Given the description of an element on the screen output the (x, y) to click on. 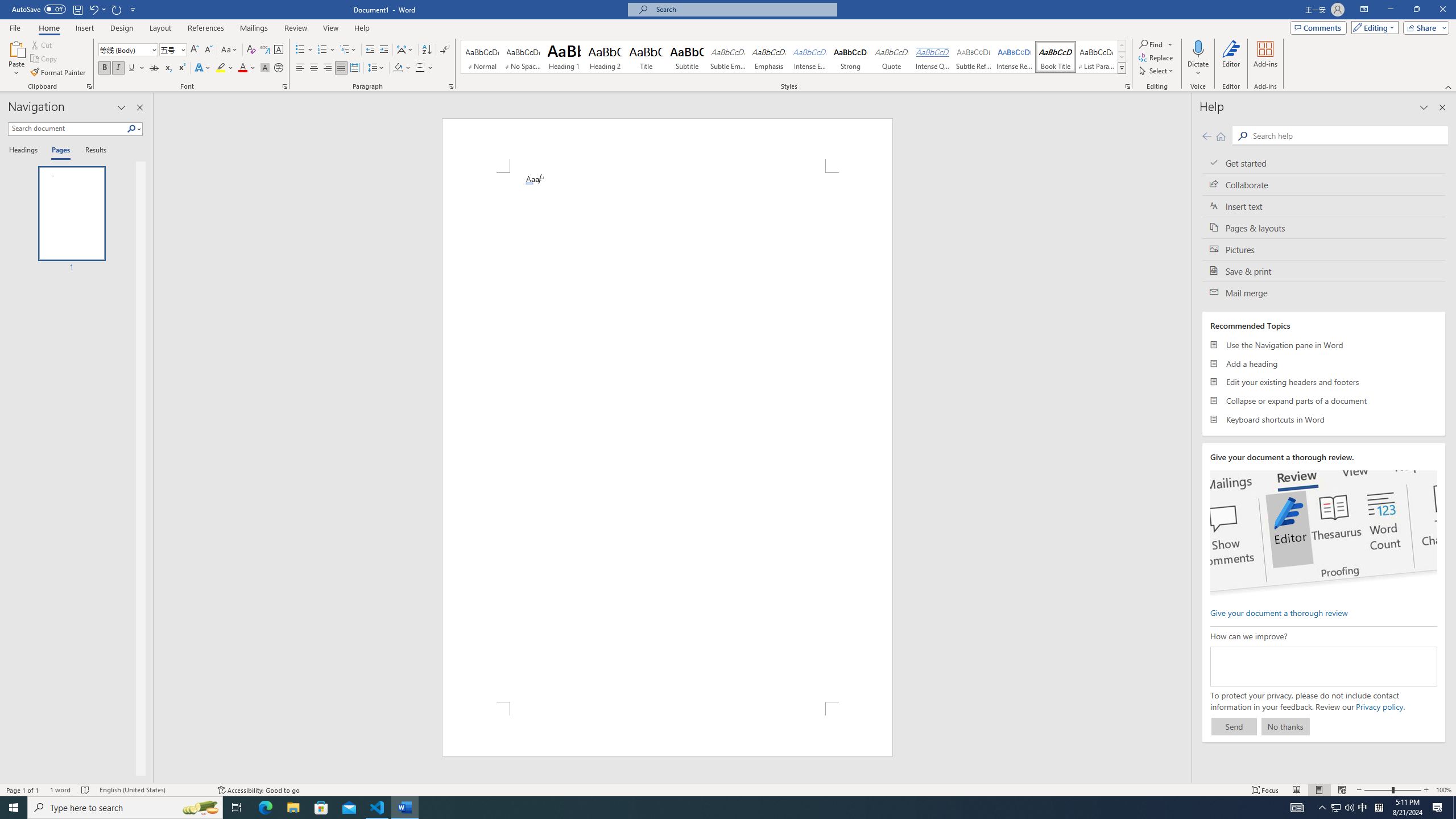
Edit your existing headers and footers (1323, 381)
Previous page (1206, 136)
Insert text (1323, 206)
Subtle Reference (973, 56)
